Given the description of an element on the screen output the (x, y) to click on. 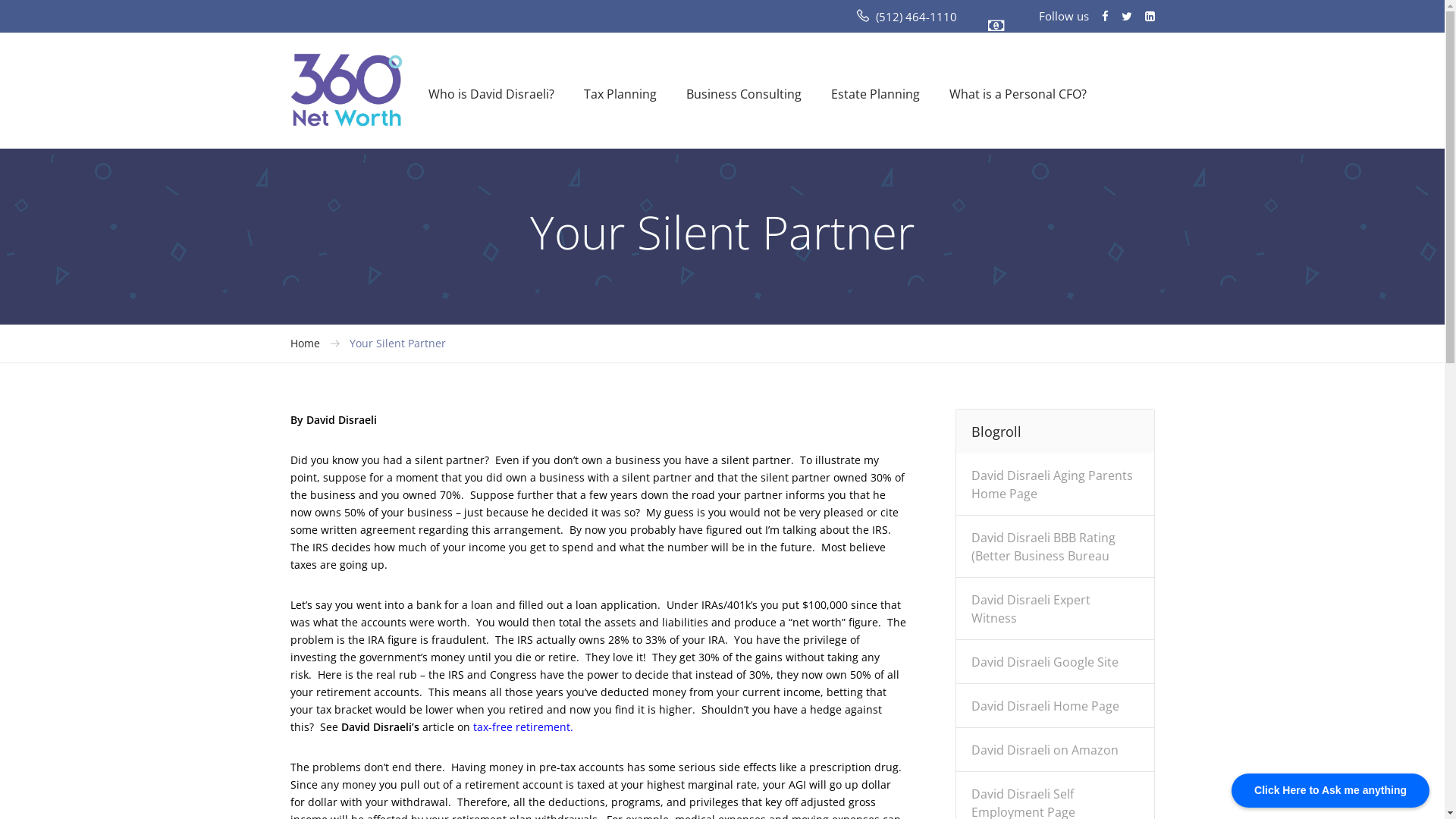
Estate Planning Element type: text (875, 92)
tax-free retirement. Element type: text (523, 726)
Business Consulting Element type: text (742, 92)
Who is David Disraeli? Element type: text (490, 92)
Your Silent Partner Element type: text (396, 343)
David Disraeli Google Site Element type: text (1044, 667)
David Disraeli Aging Parents Home Page Element type: text (1051, 490)
(512) 464-1110 Element type: text (915, 16)
Tax Planning Element type: text (619, 92)
David Disraeli Home Page Element type: text (1045, 711)
David Disraeli on Amazon Element type: text (1044, 755)
David Disraeli BBB Rating (Better Business Bureau Element type: text (1043, 552)
What is a Personal CFO? Element type: text (1017, 92)
Home Element type: text (304, 343)
David Disraeli Expert Witness Element type: text (1030, 614)
